Given the description of an element on the screen output the (x, y) to click on. 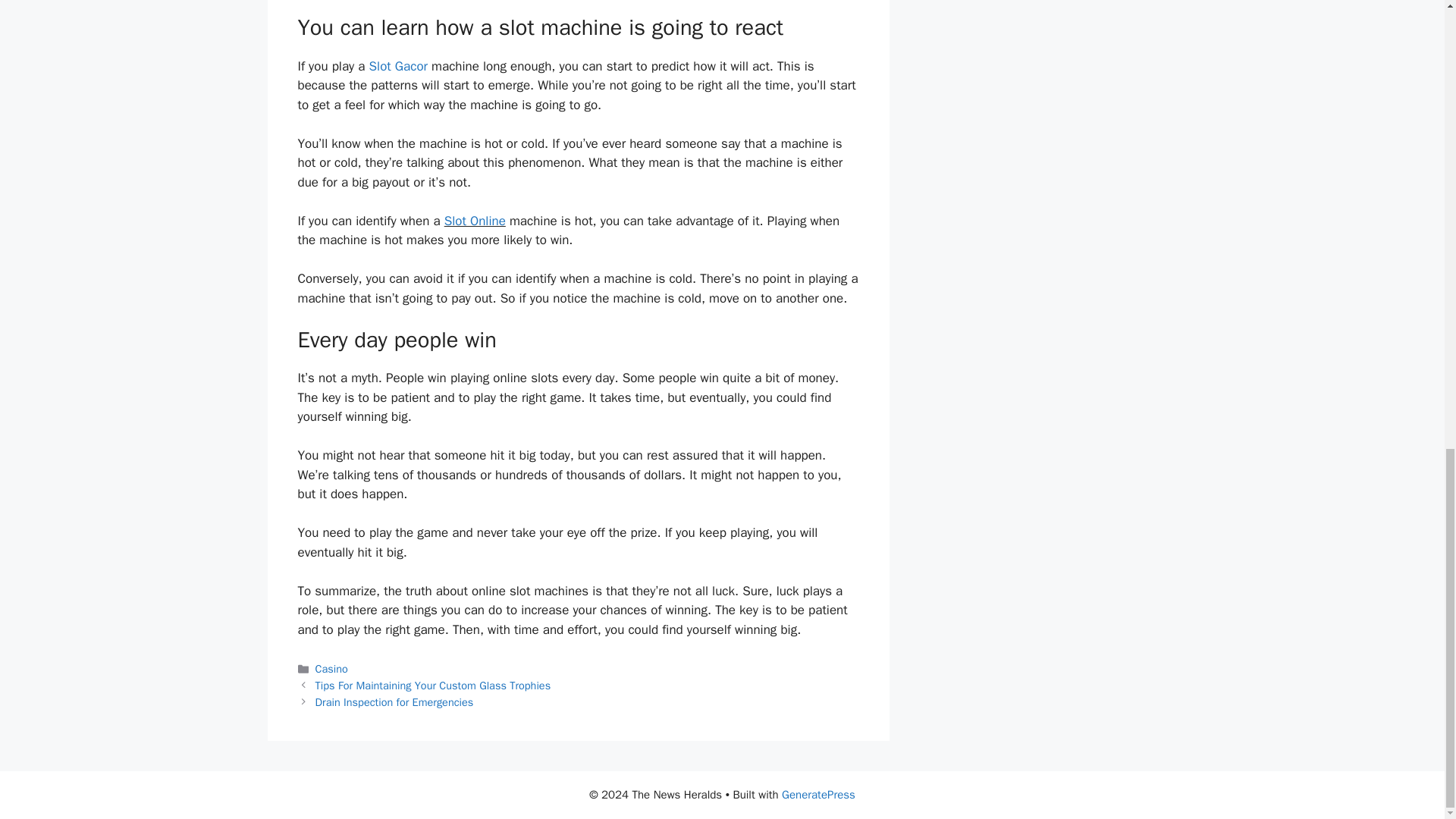
Drain Inspection for Emergencies (394, 702)
Slot Online (474, 220)
Casino (331, 668)
Slot Gacor (398, 66)
GeneratePress (818, 794)
Tips For Maintaining Your Custom Glass Trophies (433, 685)
